Given the description of an element on the screen output the (x, y) to click on. 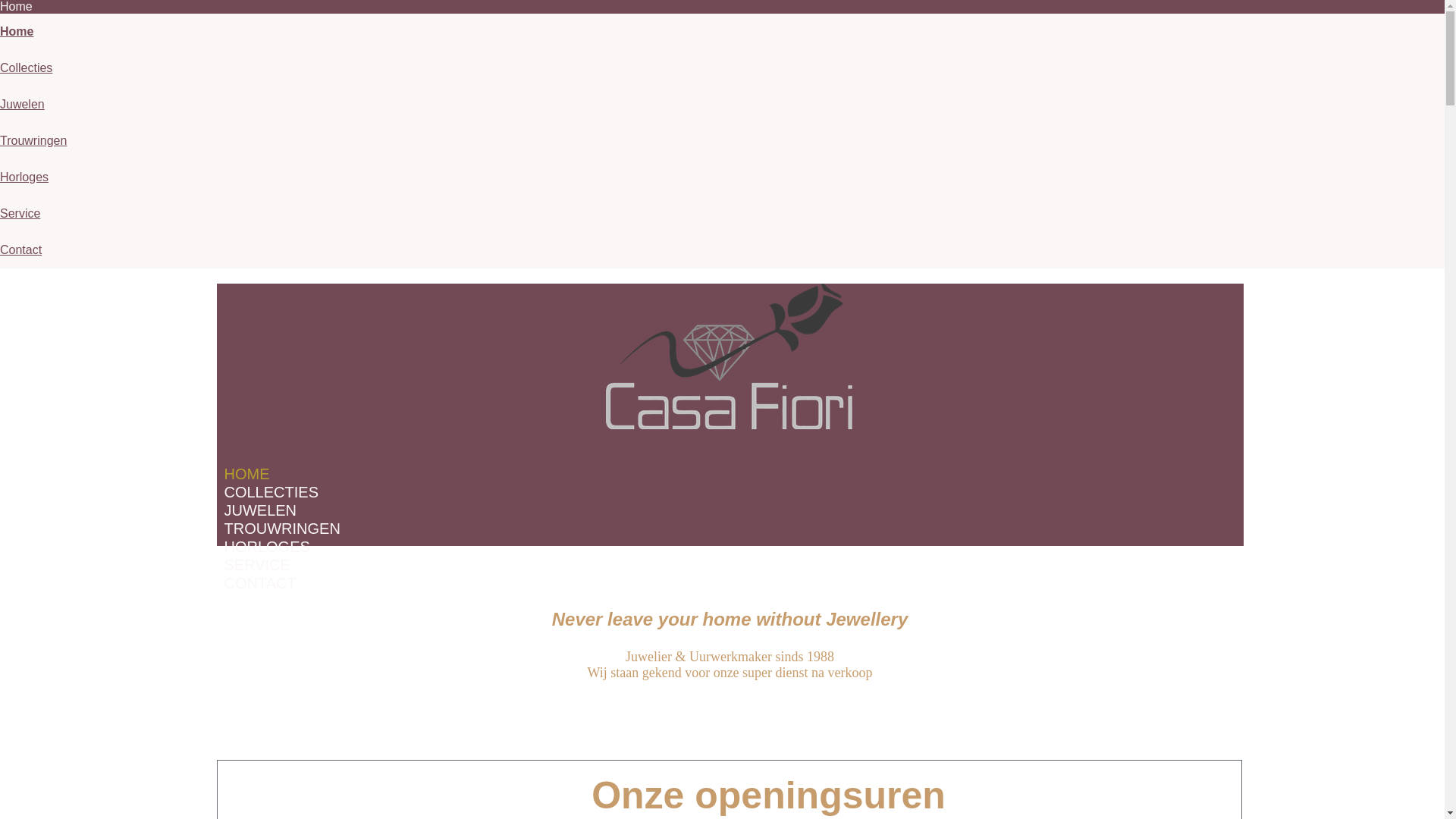
TROUWRINGEN Element type: text (282, 527)
COLLECTIES Element type: text (271, 490)
Juwelen Element type: text (22, 103)
Collecties Element type: text (26, 67)
SERVICE Element type: text (257, 563)
Service Element type: text (20, 213)
Trouwringen Element type: text (33, 140)
JUWELEN Element type: text (260, 509)
CONTACT Element type: text (260, 581)
Casa Fiori - Juwelier & Uurwerkmaker Element type: hover (728, 356)
Contact Element type: text (20, 249)
HOME Element type: text (246, 472)
HORLOGES Element type: text (266, 545)
Horloges Element type: text (24, 176)
Home Element type: text (16, 31)
